Given the description of an element on the screen output the (x, y) to click on. 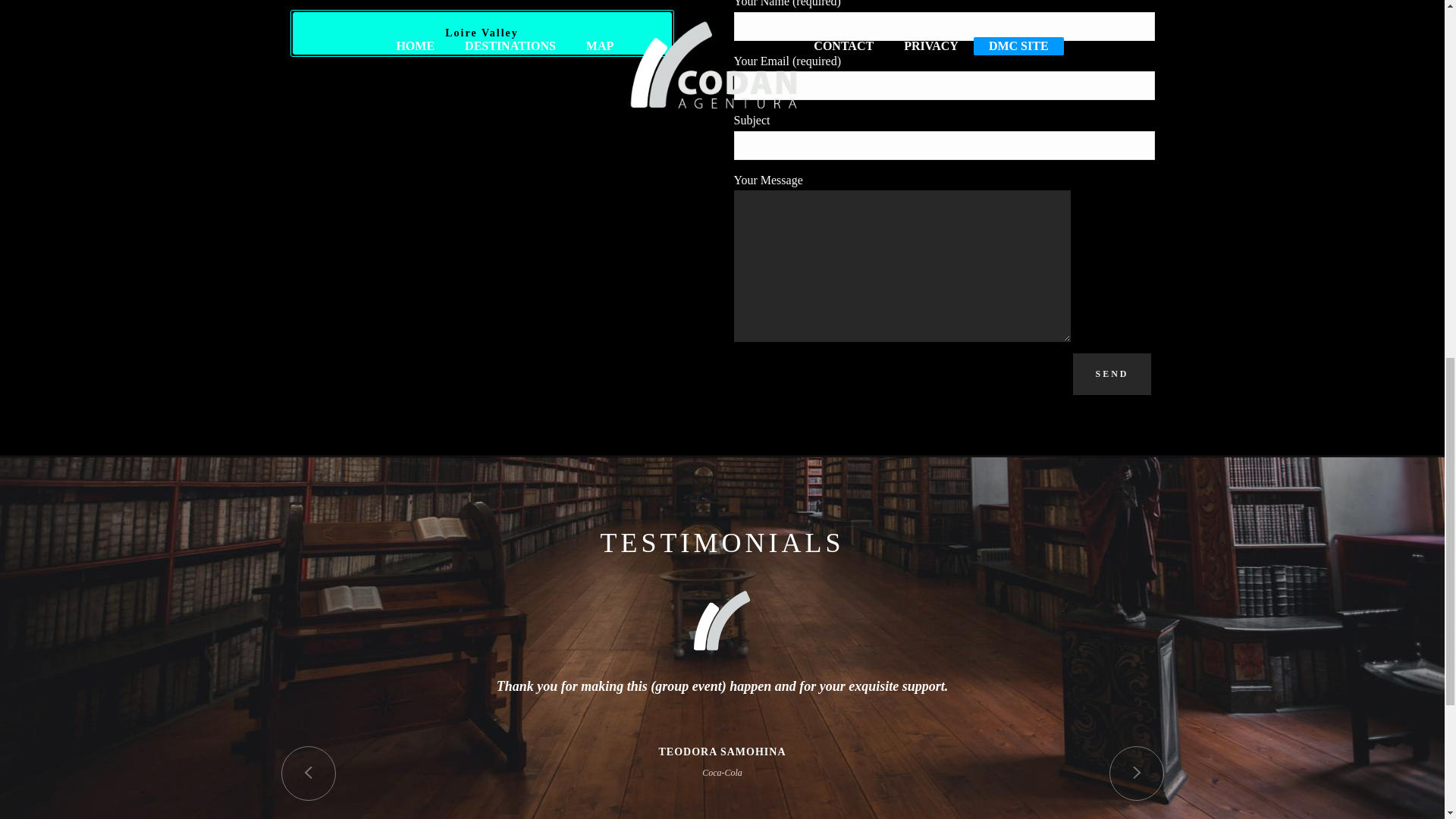
Loire Valley (481, 33)
Send (1111, 373)
Loire Valley (721, 620)
